Given the description of an element on the screen output the (x, y) to click on. 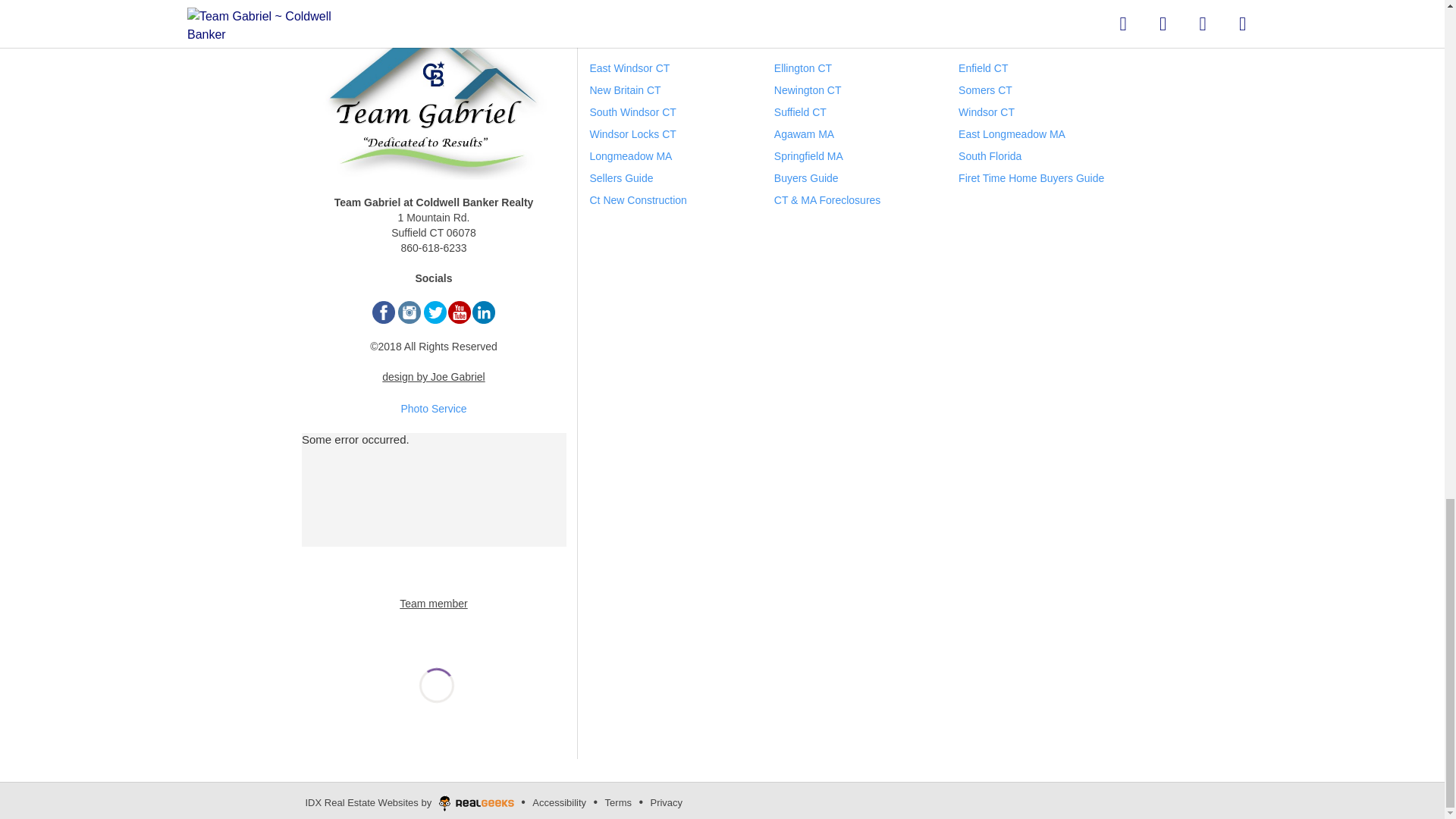
Photo Service (432, 408)
design by Joe Gabriel (432, 377)
Team member (432, 603)
East Windsor CT (629, 68)
Ellington CT (802, 68)
